Given the description of an element on the screen output the (x, y) to click on. 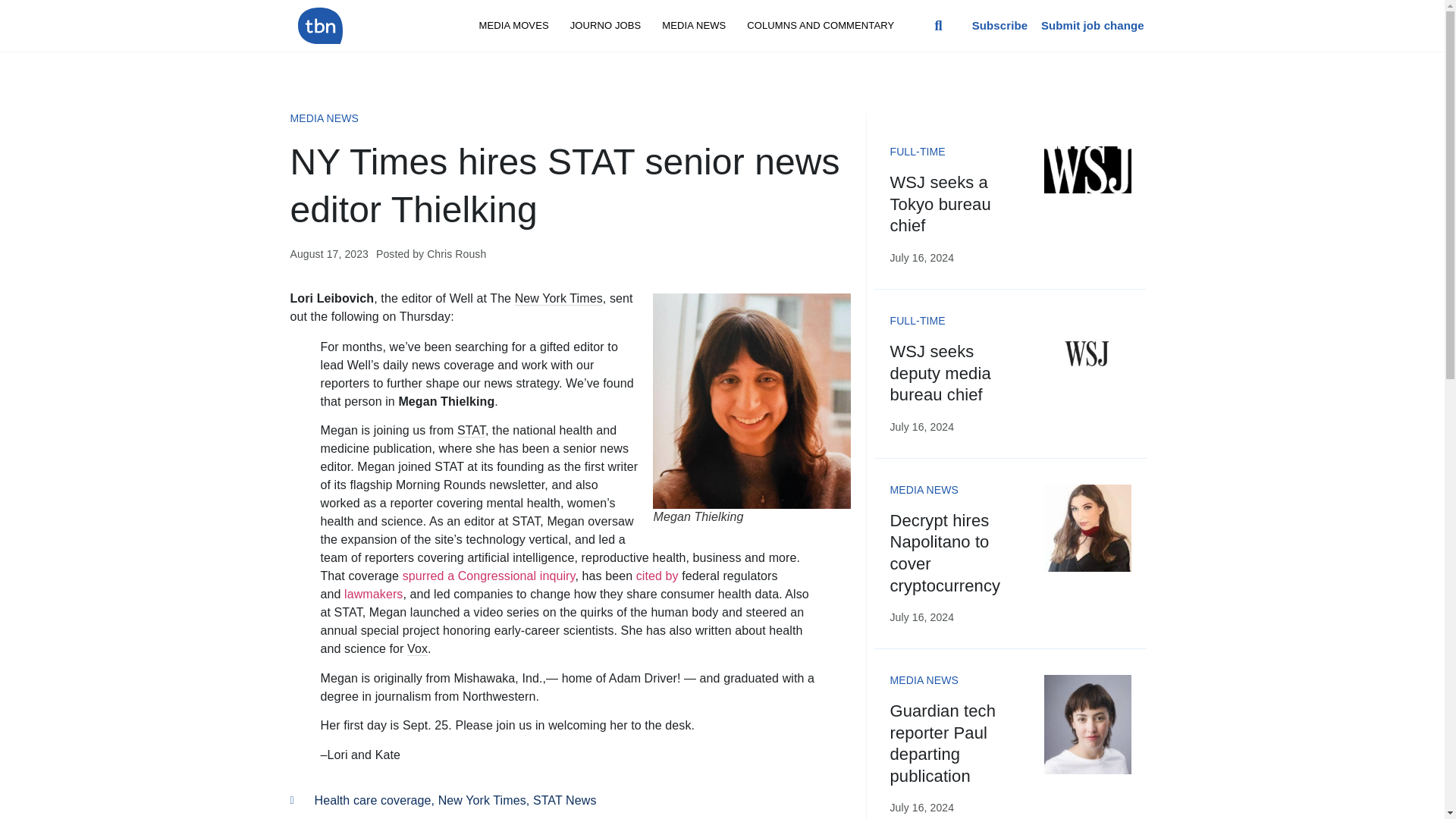
cited by (657, 575)
Decrypt hires Napolitano to cover cryptocurrency (944, 553)
July 16, 2024 (921, 426)
spurred a Congressional inquiry (489, 575)
STAT News (564, 799)
July 16, 2024 (921, 257)
July 16, 2024 (921, 616)
JOURNO JOBS (605, 25)
New York Times (481, 799)
MEDIA MOVES (513, 25)
COLUMNS AND COMMENTARY (820, 25)
Health care coverage (372, 799)
FULL-TIME (916, 320)
WSJ seeks a Tokyo bureau chief (939, 203)
Vox (417, 649)
